Given the description of an element on the screen output the (x, y) to click on. 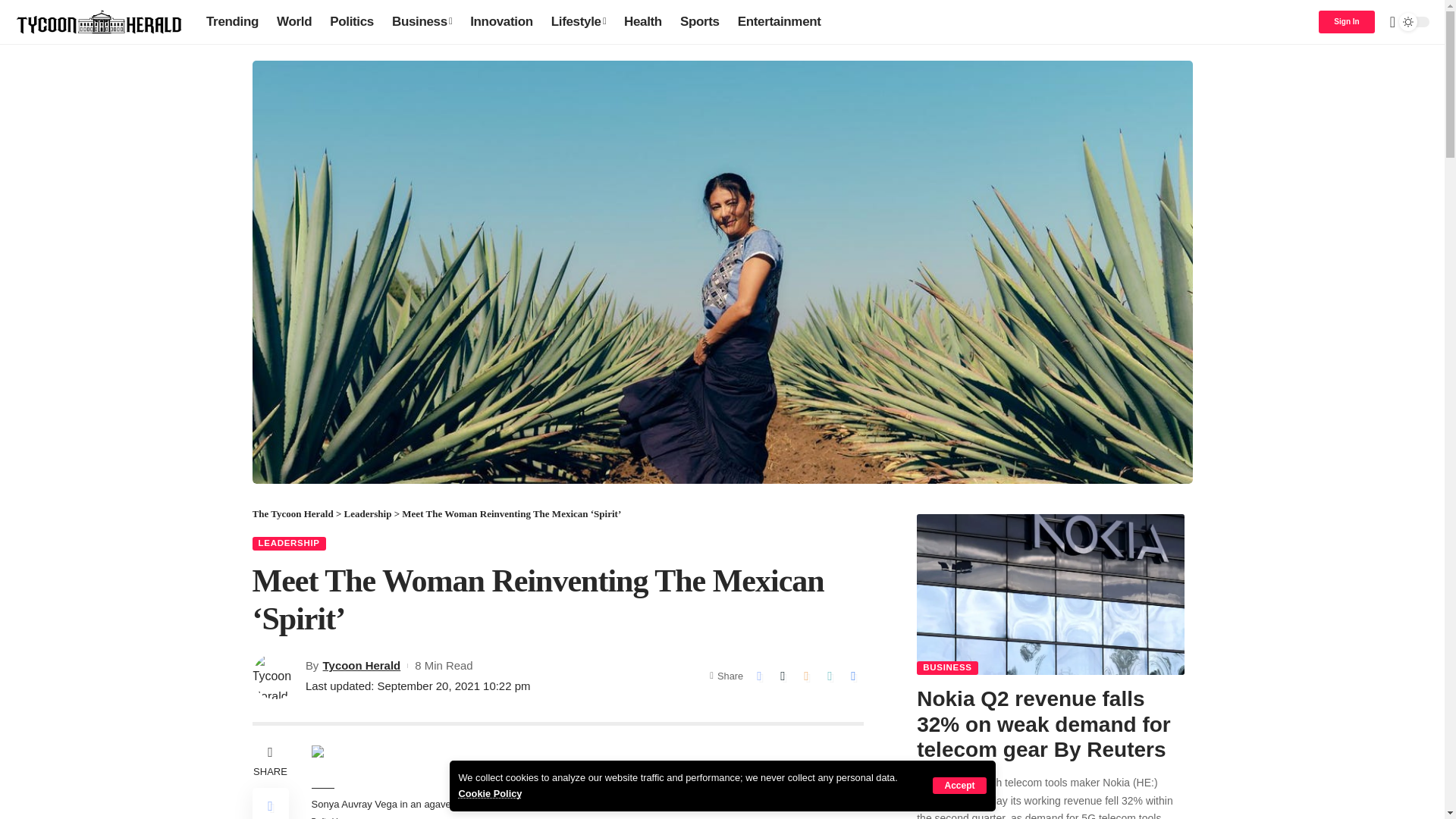
World (293, 22)
Accept (959, 785)
Entertainment (779, 22)
Innovation (501, 22)
Lifestyle (577, 22)
Politics (351, 22)
Cookie Policy (489, 793)
Trending (231, 22)
Sports (700, 22)
Business (421, 22)
Health (642, 22)
Sign In (1346, 21)
Go to The Tycoon Herald. (292, 513)
Go to the Leadership Category archives. (367, 513)
